Given the description of an element on the screen output the (x, y) to click on. 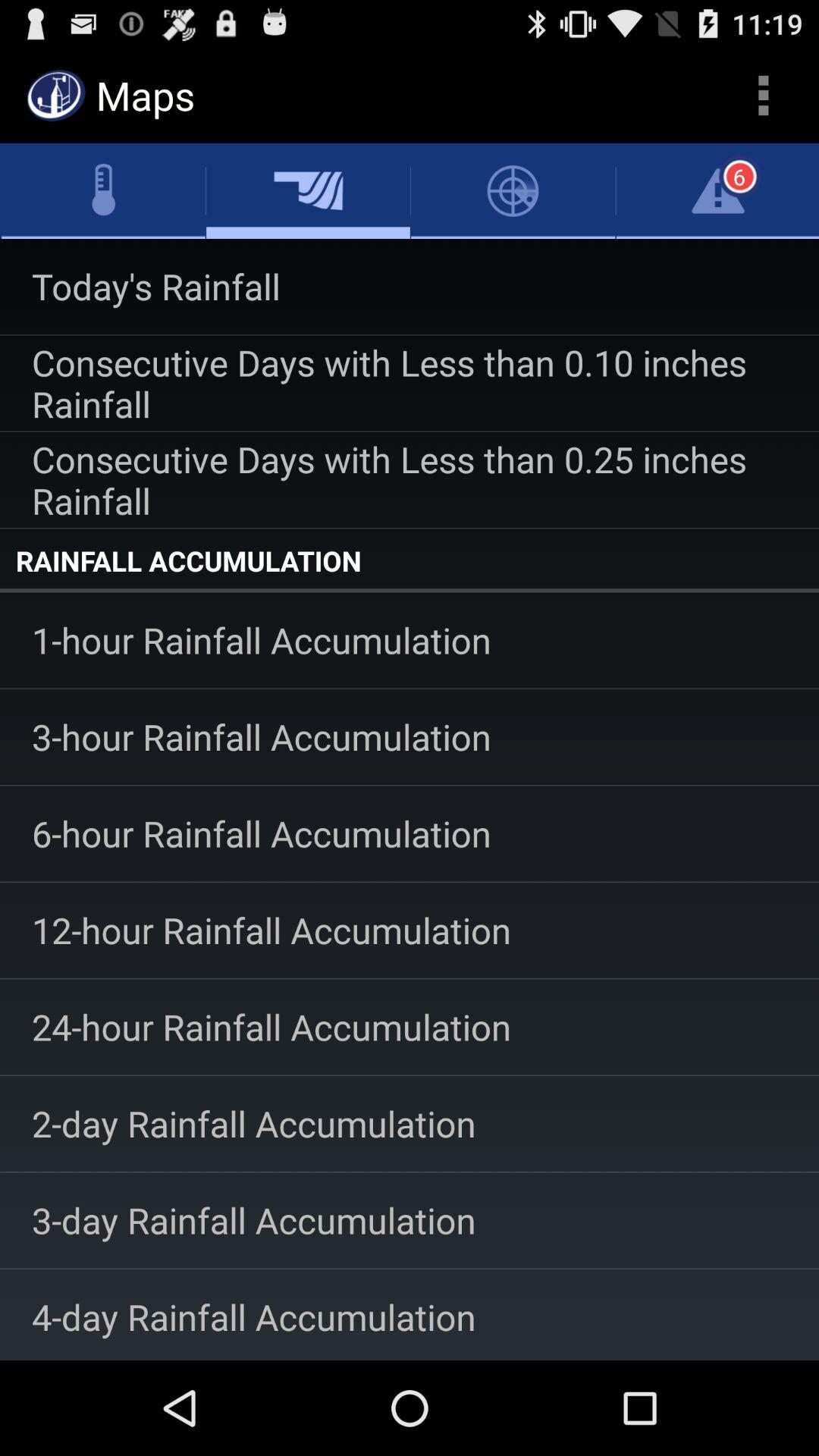
scroll until the today's rainfall (409, 286)
